Given the description of an element on the screen output the (x, y) to click on. 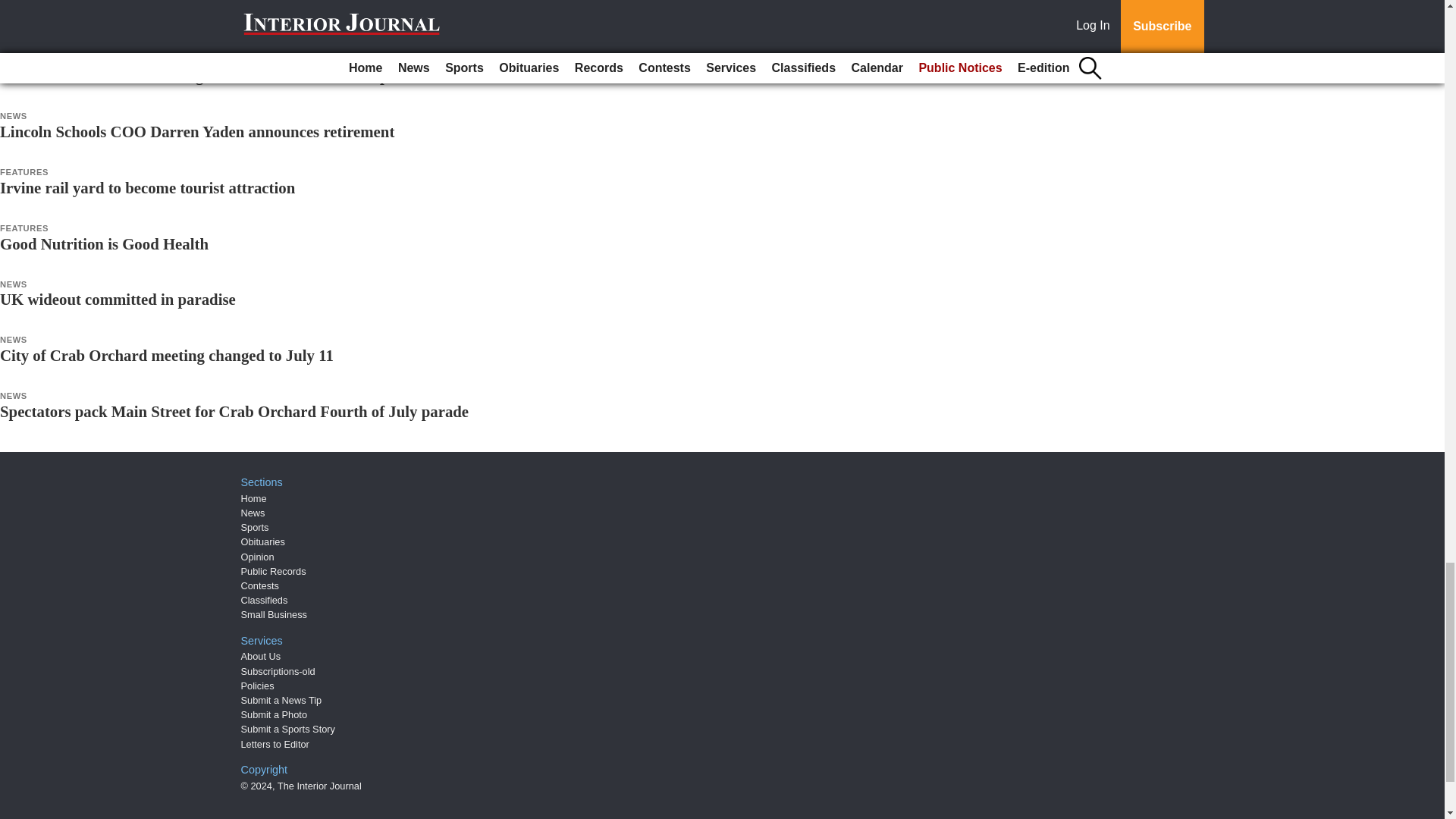
Lincoln Schools COO Darren Yaden announces retirement (197, 131)
Butler already challenging teammates on defense (164, 19)
